Given the description of an element on the screen output the (x, y) to click on. 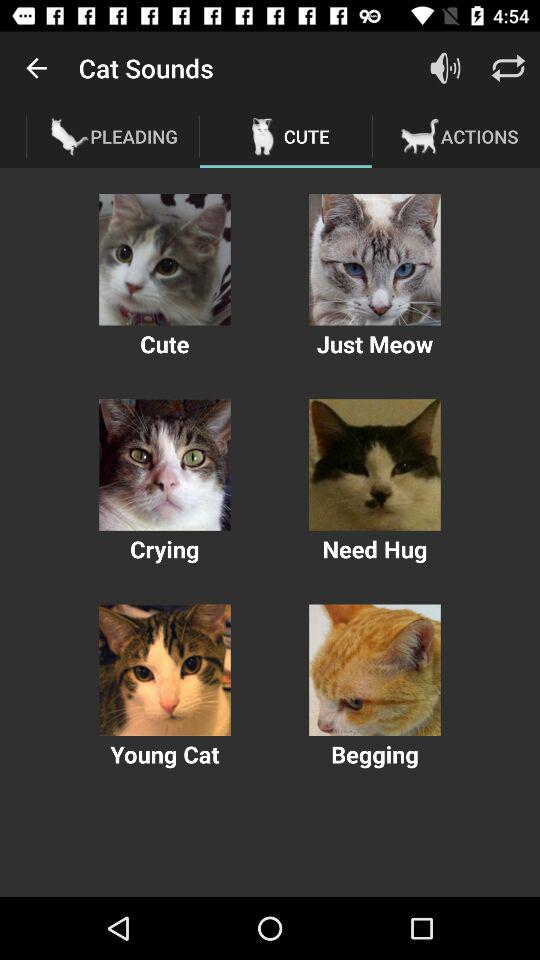
select sound option (374, 464)
